Given the description of an element on the screen output the (x, y) to click on. 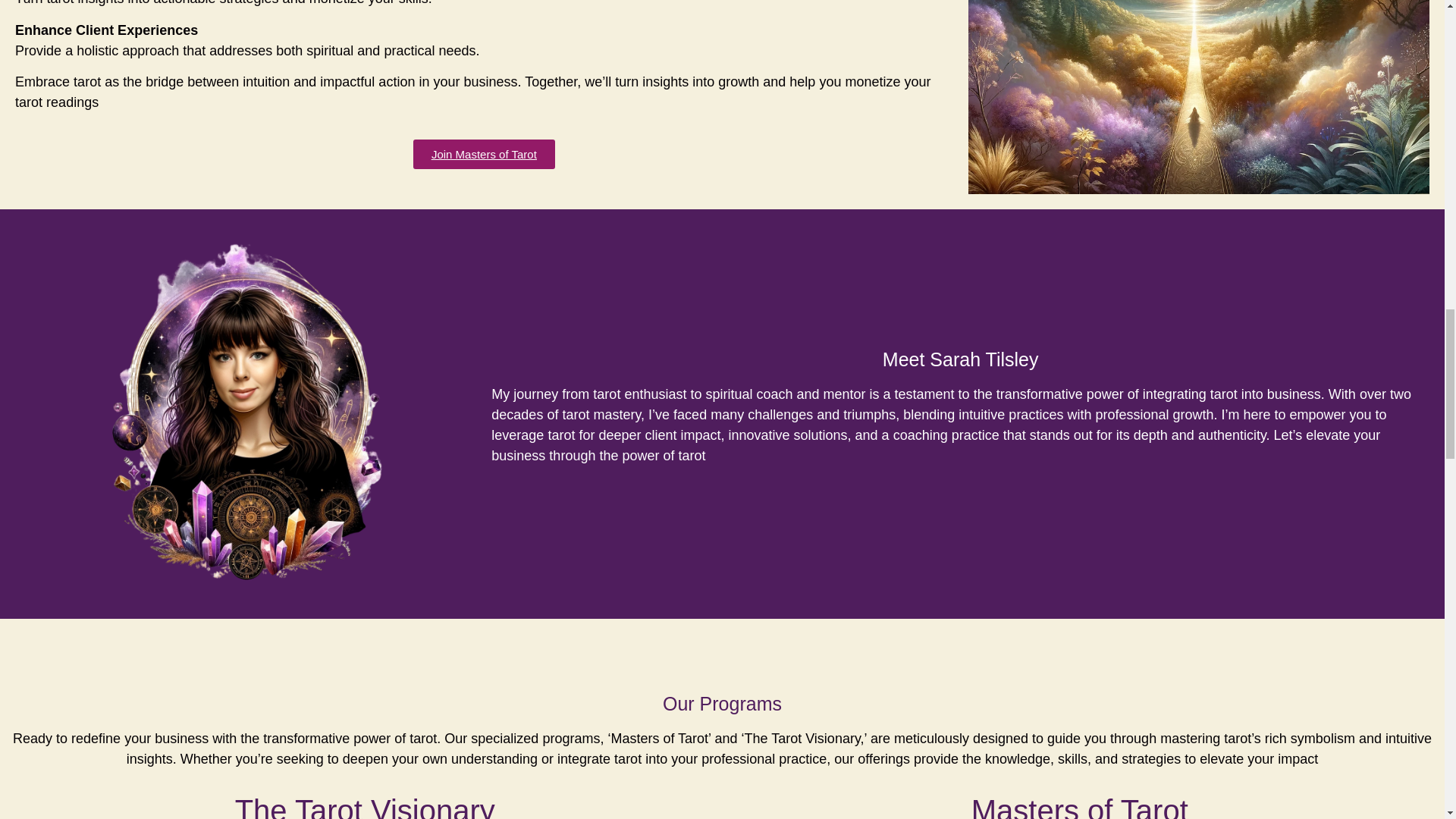
Join Masters of Tarot (483, 153)
